Given the description of an element on the screen output the (x, y) to click on. 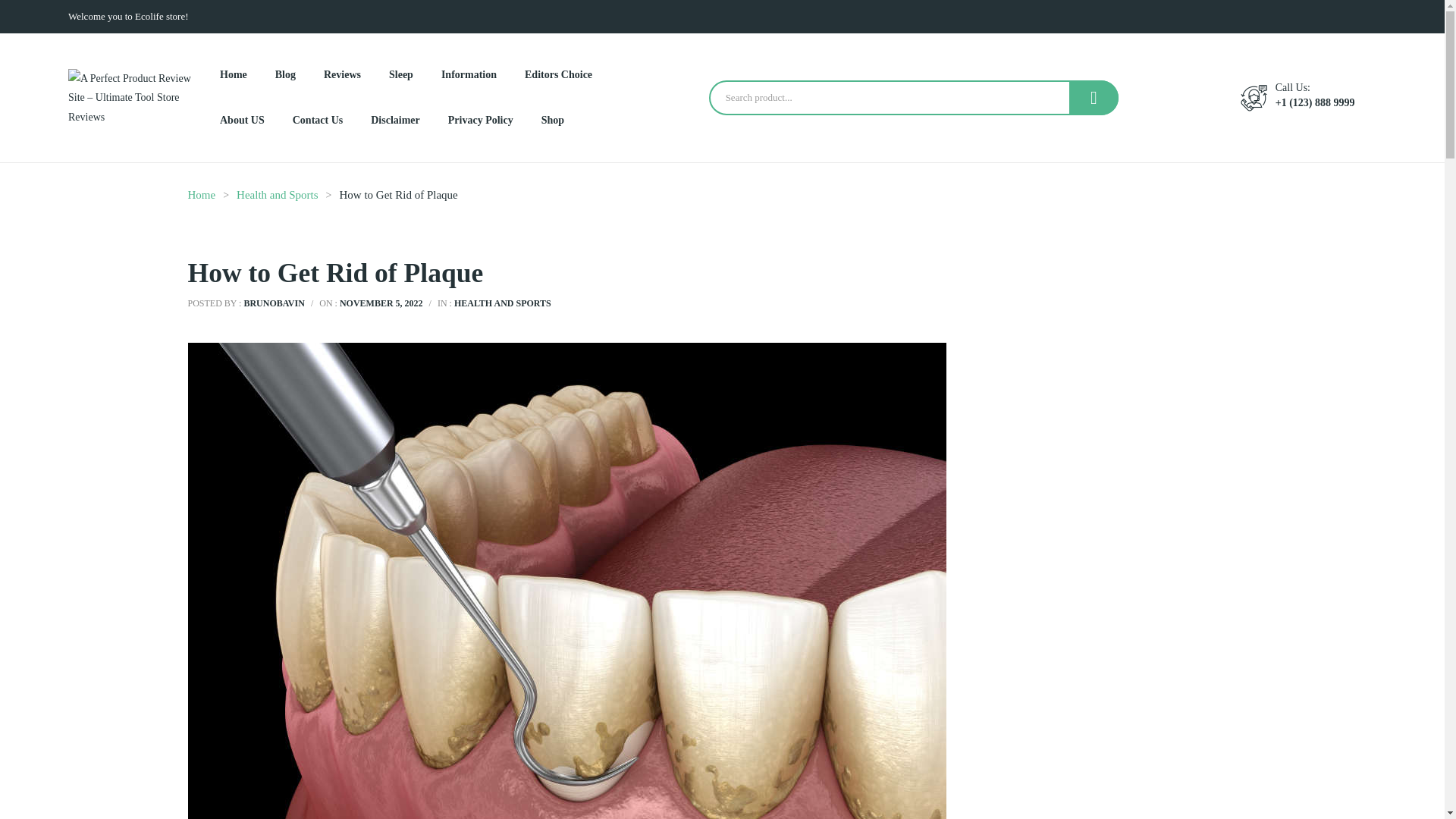
Information (468, 74)
Editors Choice (558, 74)
